Given the description of an element on the screen output the (x, y) to click on. 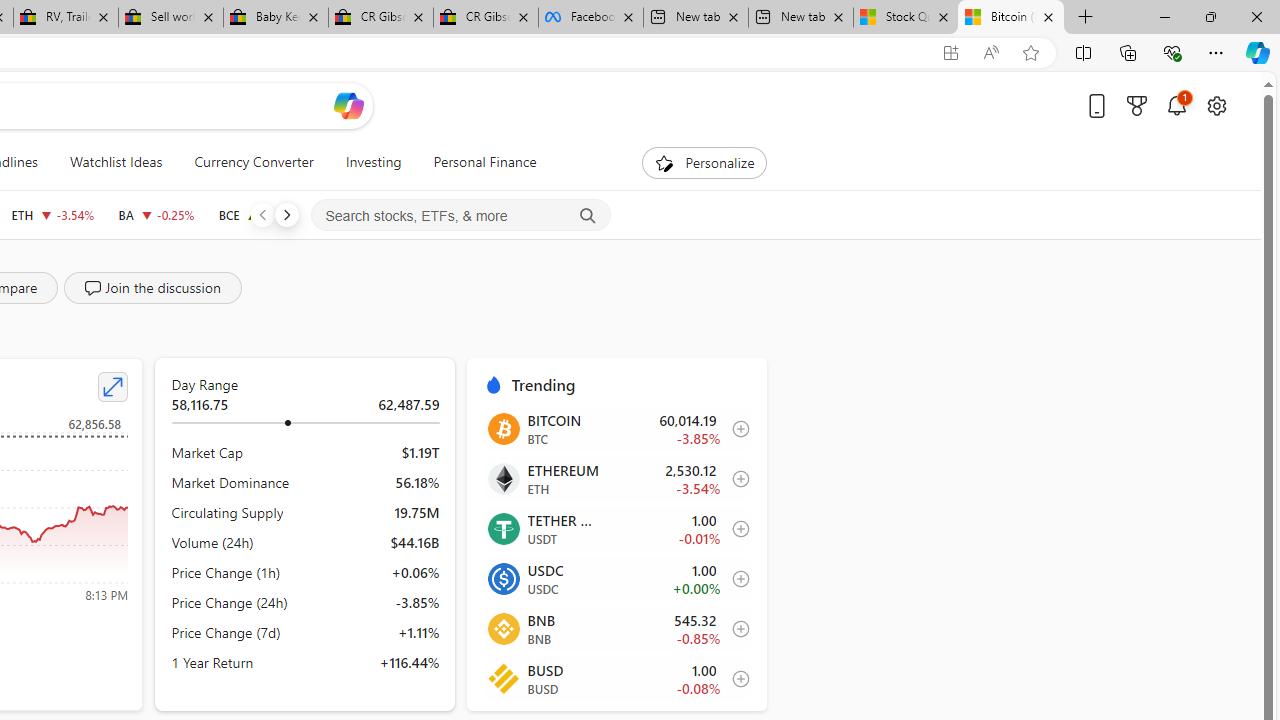
Open settings (1216, 105)
Baby Keepsakes & Announcements for sale | eBay (275, 17)
Currency Converter (253, 162)
Investing (373, 162)
USDC (502, 578)
Add to Watchlist (735, 678)
BUSD (502, 678)
Sell worldwide with eBay (170, 17)
Personalize (703, 162)
ETH Ethereum decrease 2,530.12 -89.57 -3.54% itemundefined (616, 479)
Notifications (1176, 105)
